Given the description of an element on the screen output the (x, y) to click on. 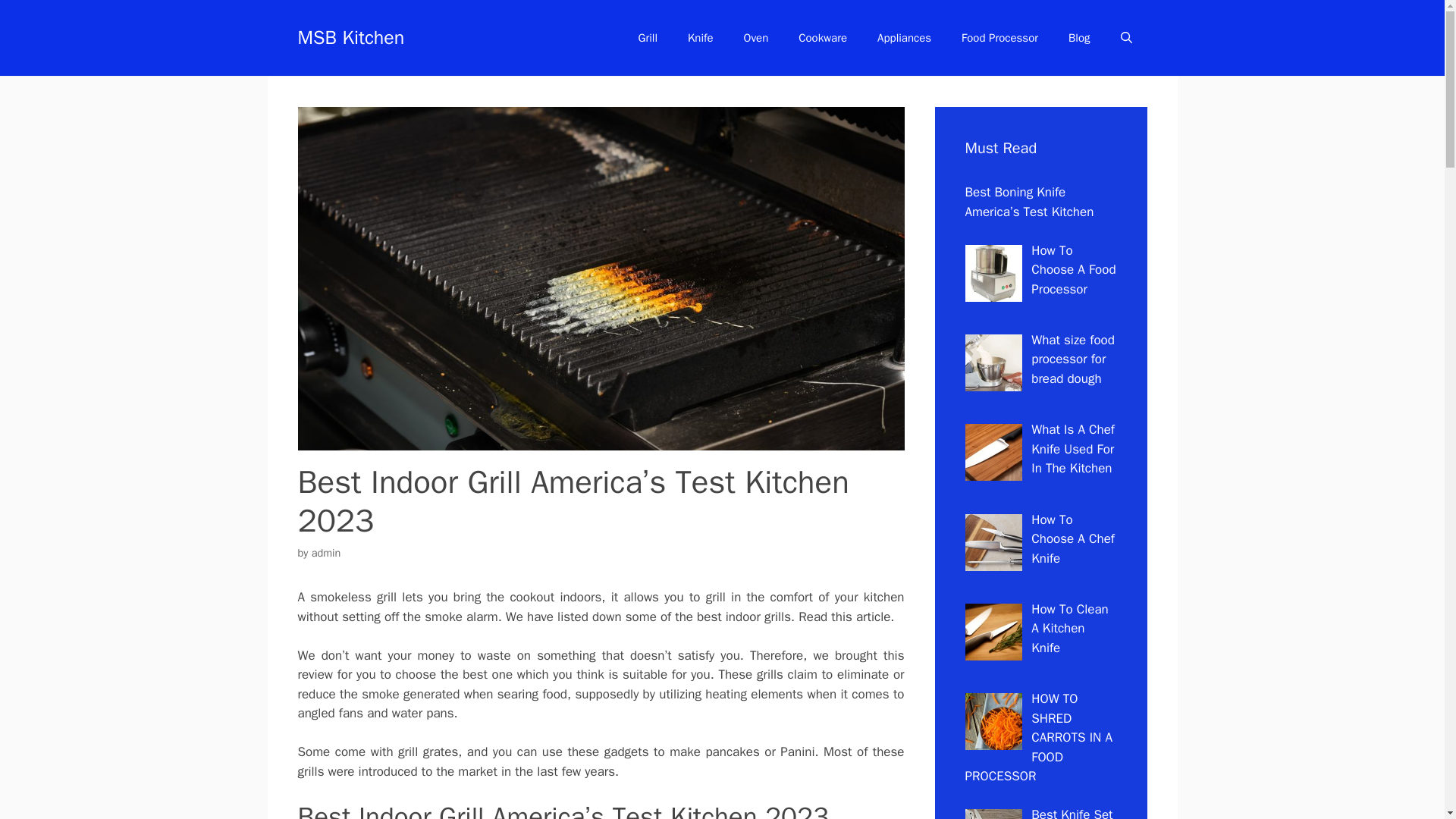
Grill (647, 37)
Appliances (903, 37)
Knife (700, 37)
Blog (1078, 37)
What Is A Chef Knife Used For In The Kitchen (1072, 448)
MSB Kitchen (350, 37)
Food Processor (999, 37)
Cookware (822, 37)
What size food processor for bread dough (1072, 359)
View all posts by admin (325, 552)
